Given the description of an element on the screen output the (x, y) to click on. 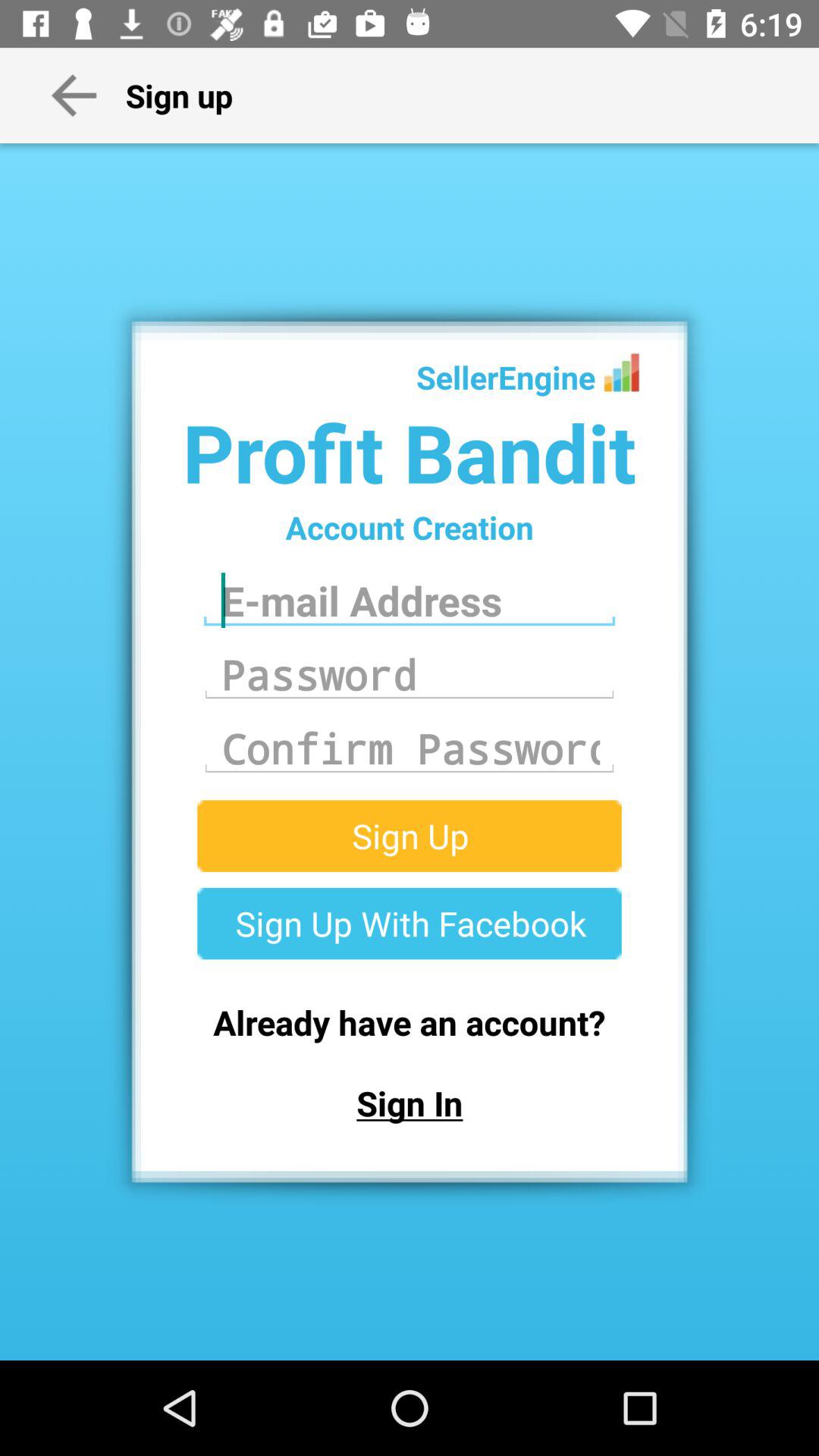
enter e-mail address (409, 600)
